Given the description of an element on the screen output the (x, y) to click on. 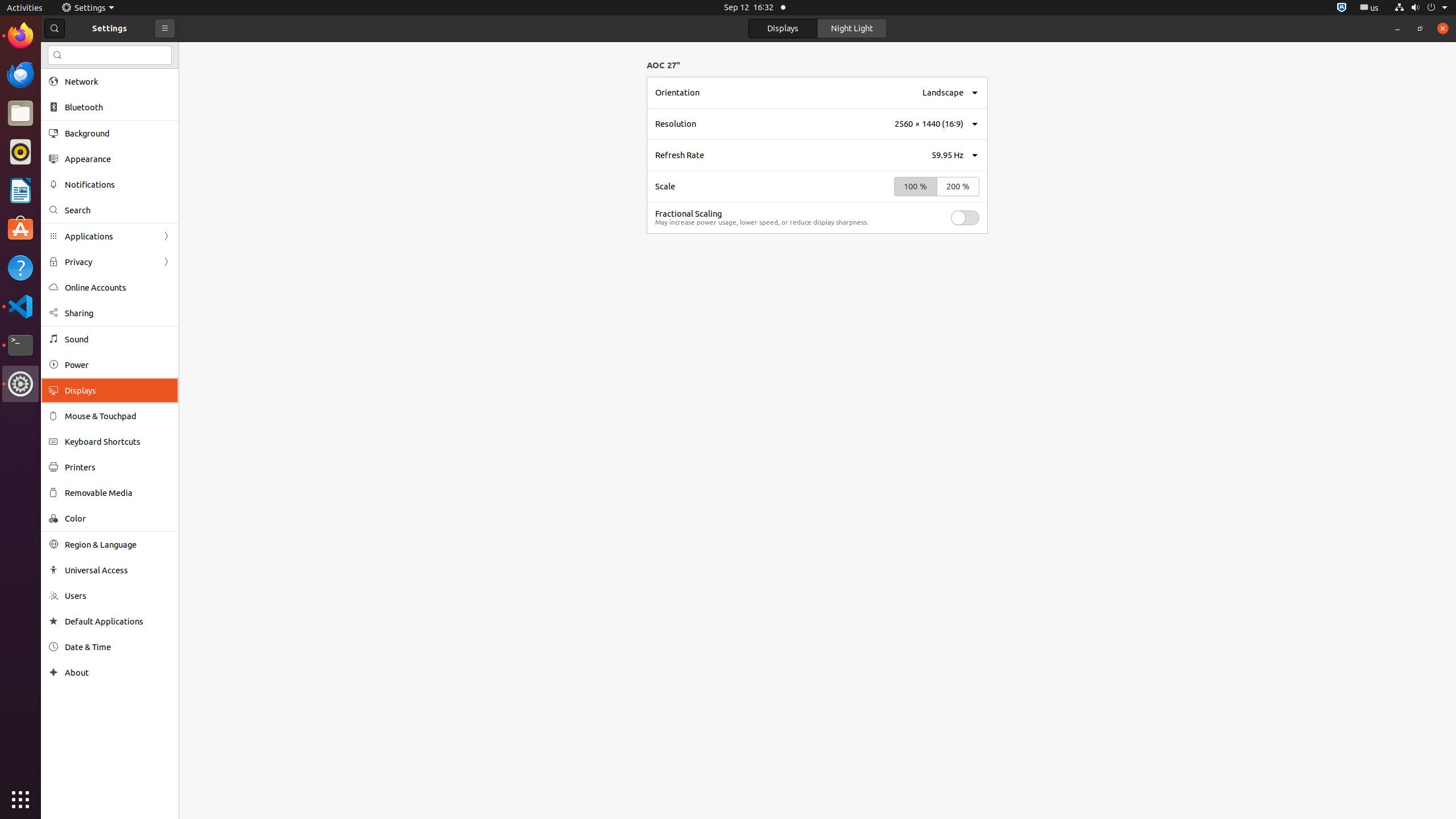
Online Accounts Element type: label (117, 287)
Background Element type: label (117, 133)
About Element type: icon (53, 672)
200 % Element type: radio-button (957, 186)
100 % Element type: radio-button (915, 186)
